Given the description of an element on the screen output the (x, y) to click on. 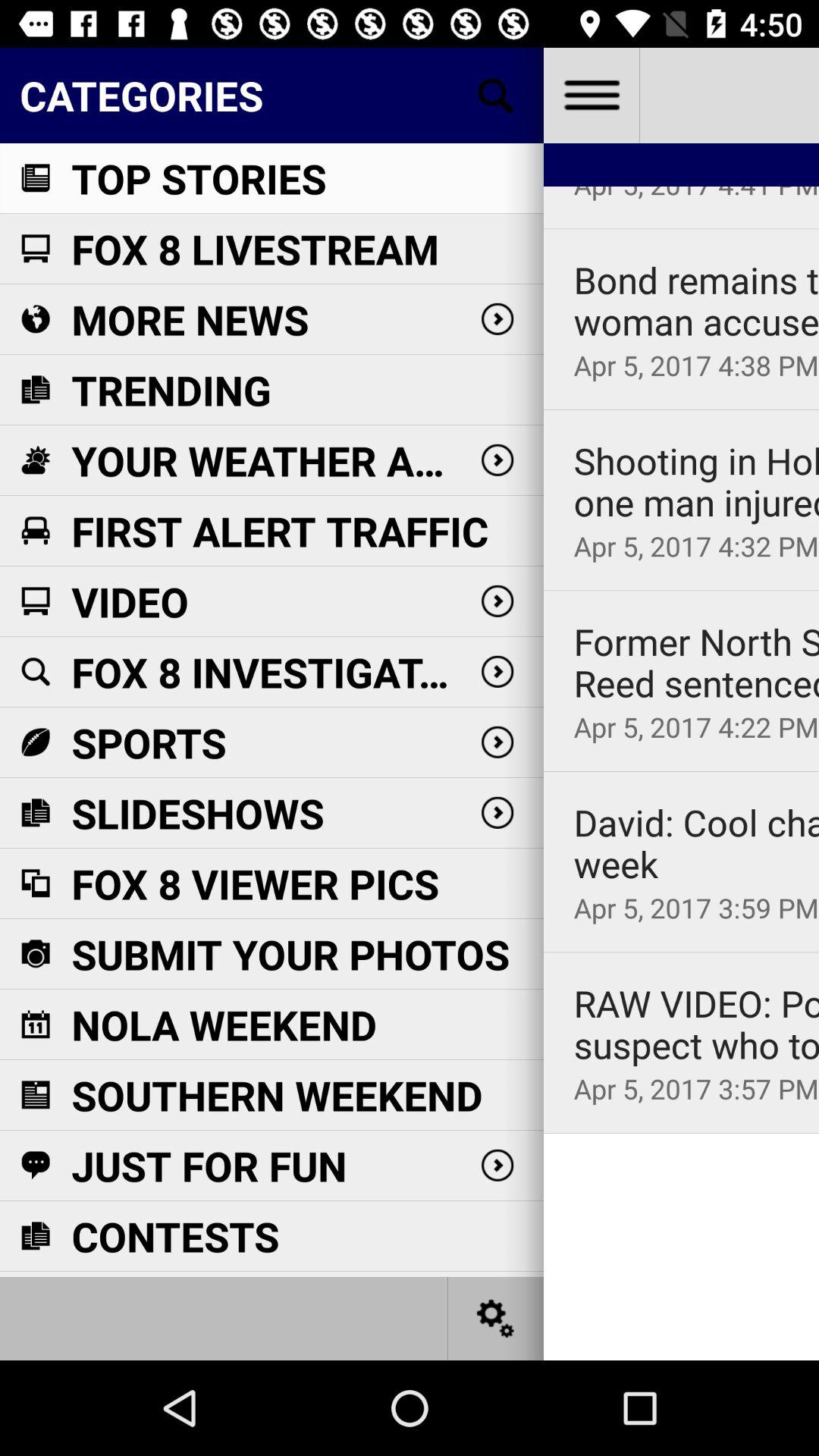
toggle settings (495, 1318)
